Given the description of an element on the screen output the (x, y) to click on. 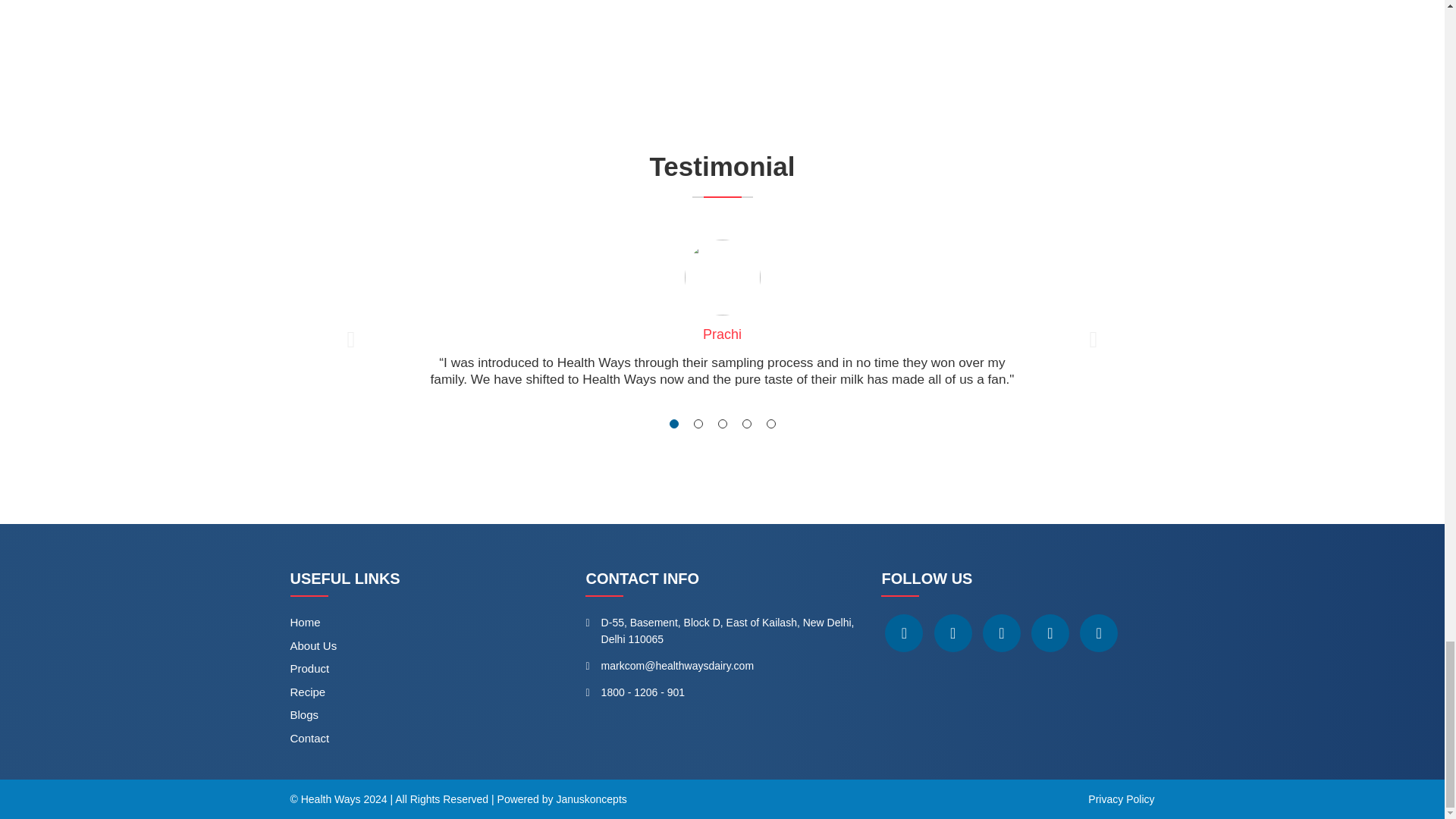
Twitter (953, 632)
Home (304, 621)
About Us (312, 645)
Blogs (303, 714)
Recipe (306, 691)
Rss (1099, 632)
Contact (309, 738)
Linkedin (1049, 632)
Facebook (904, 632)
Product (309, 667)
